Given the description of an element on the screen output the (x, y) to click on. 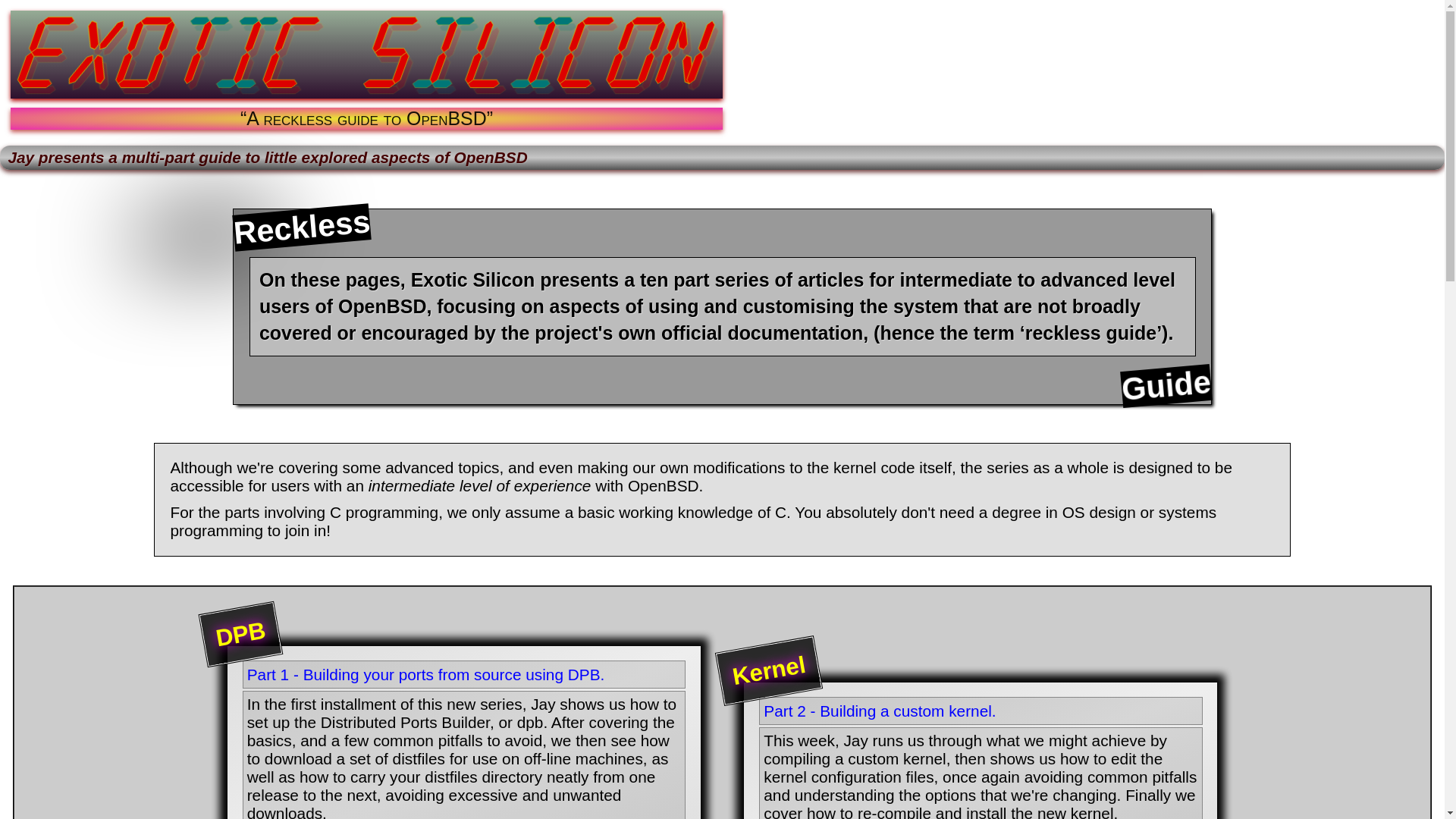
Part 2 - Building a custom kernel. (979, 710)
Homepage link (366, 53)
Part 1 - Building your ports from source using DPB. (464, 674)
EXOTIC SILICON (366, 53)
EXOTIC SILICON (366, 54)
